Given the description of an element on the screen output the (x, y) to click on. 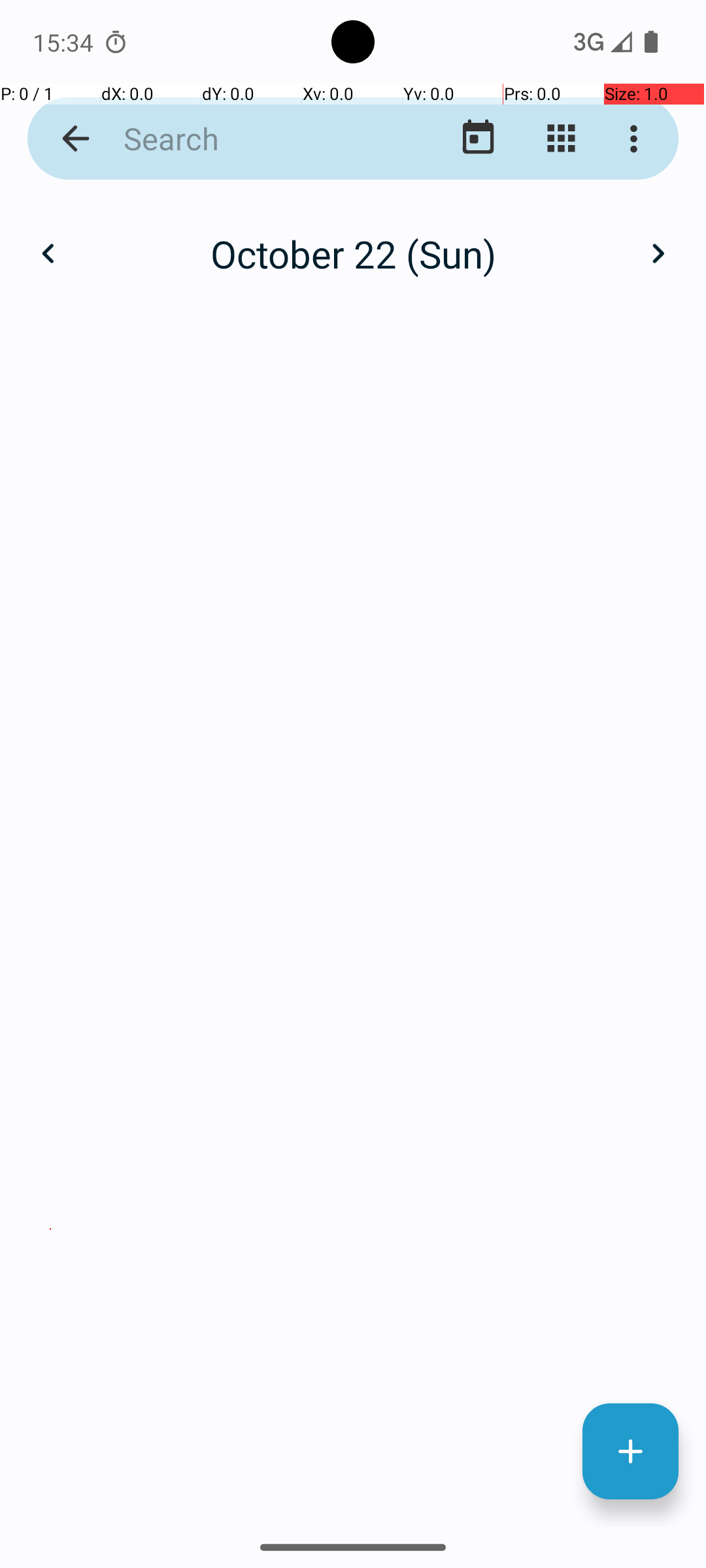
October 22 (Sun) Element type: android.widget.TextView (352, 253)
